Given the description of an element on the screen output the (x, y) to click on. 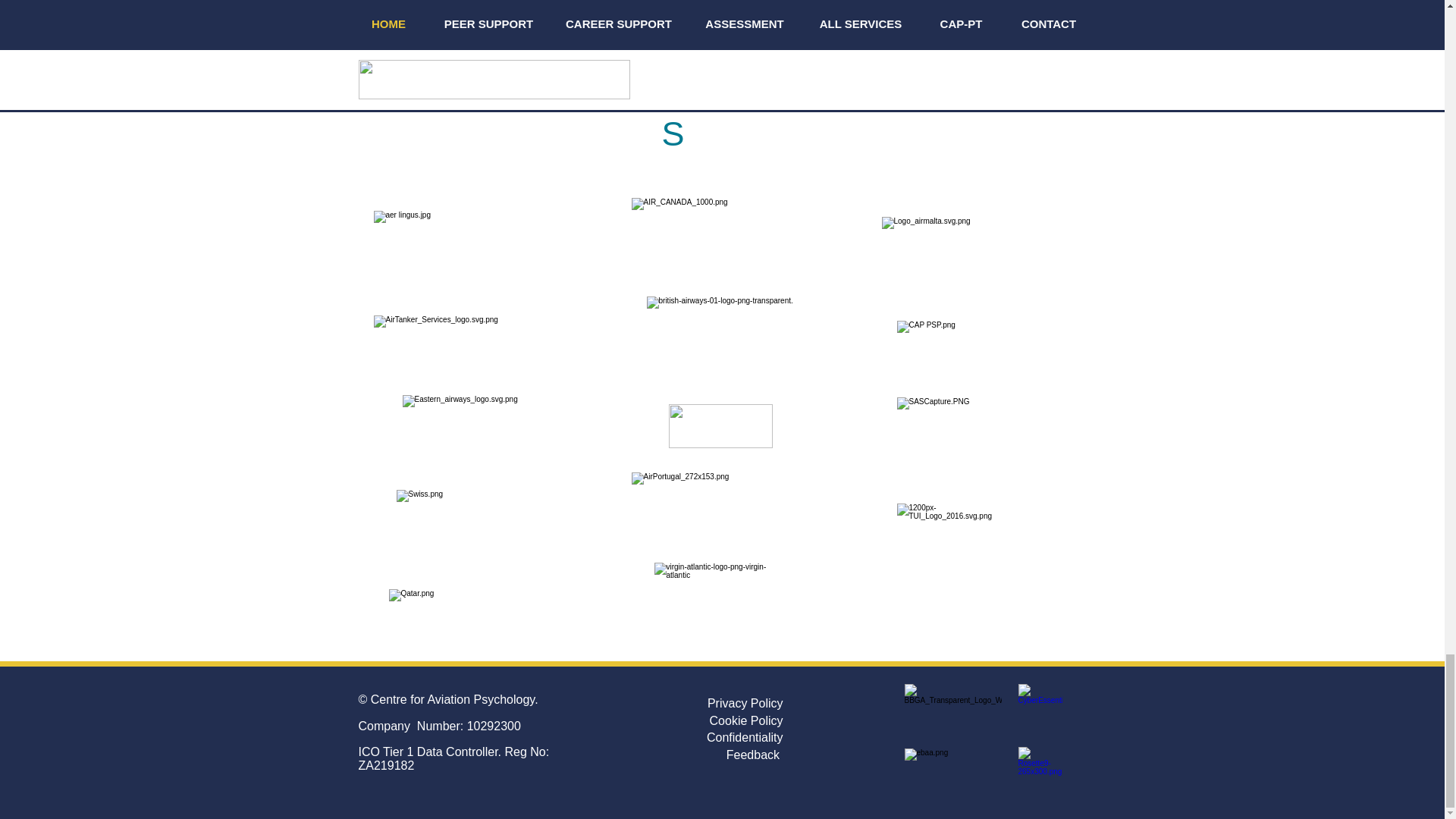
Confidentiality (744, 737)
Meet the team (919, 2)
Cookie Policy (746, 720)
Feedback  (754, 754)
Privacy Policy (745, 703)
